Given the description of an element on the screen output the (x, y) to click on. 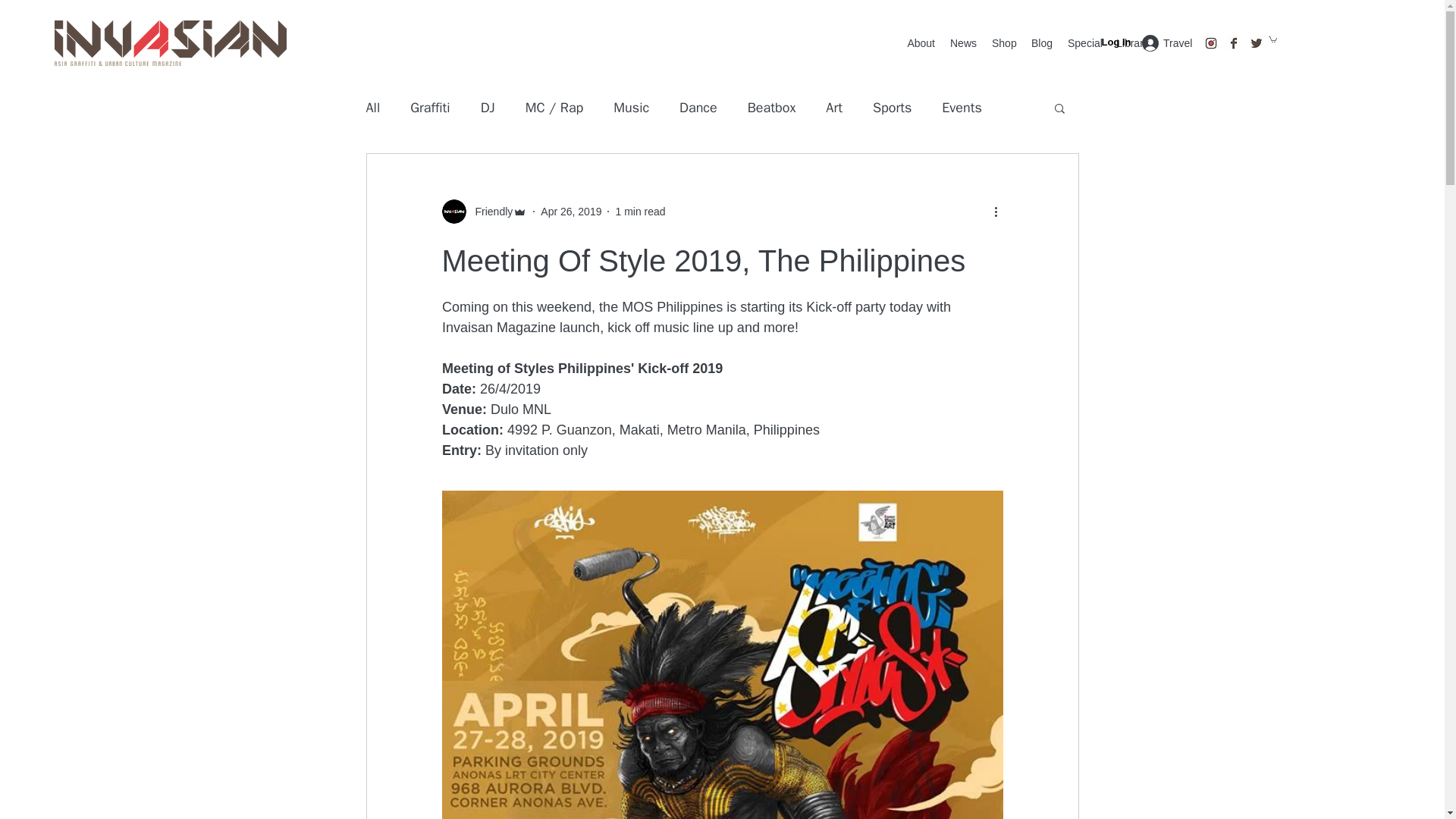
Events (961, 107)
Log In (1129, 43)
Blog (1041, 42)
Special (1083, 42)
About (920, 42)
Library (1132, 42)
1 min read (639, 211)
Apr 26, 2019 (570, 211)
Shop (1003, 42)
Friendly (488, 211)
Beatbox (772, 107)
Dance (698, 107)
Graffiti (429, 107)
Sports (891, 107)
News (963, 42)
